Given the description of an element on the screen output the (x, y) to click on. 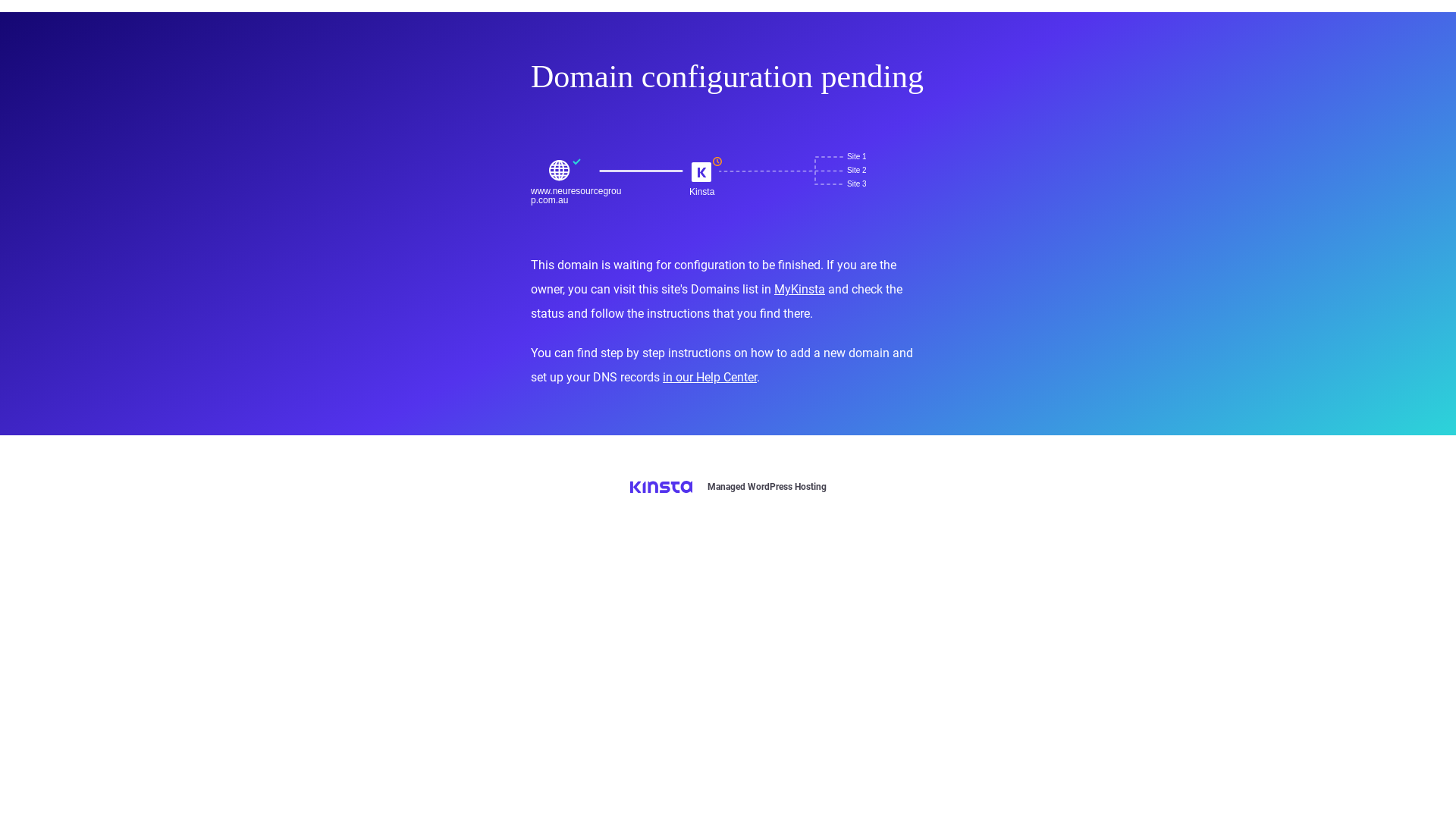
MyKinsta Element type: text (799, 289)
Kinsta logo Element type: hover (660, 486)
in our Help Center Element type: text (709, 377)
